Given the description of an element on the screen output the (x, y) to click on. 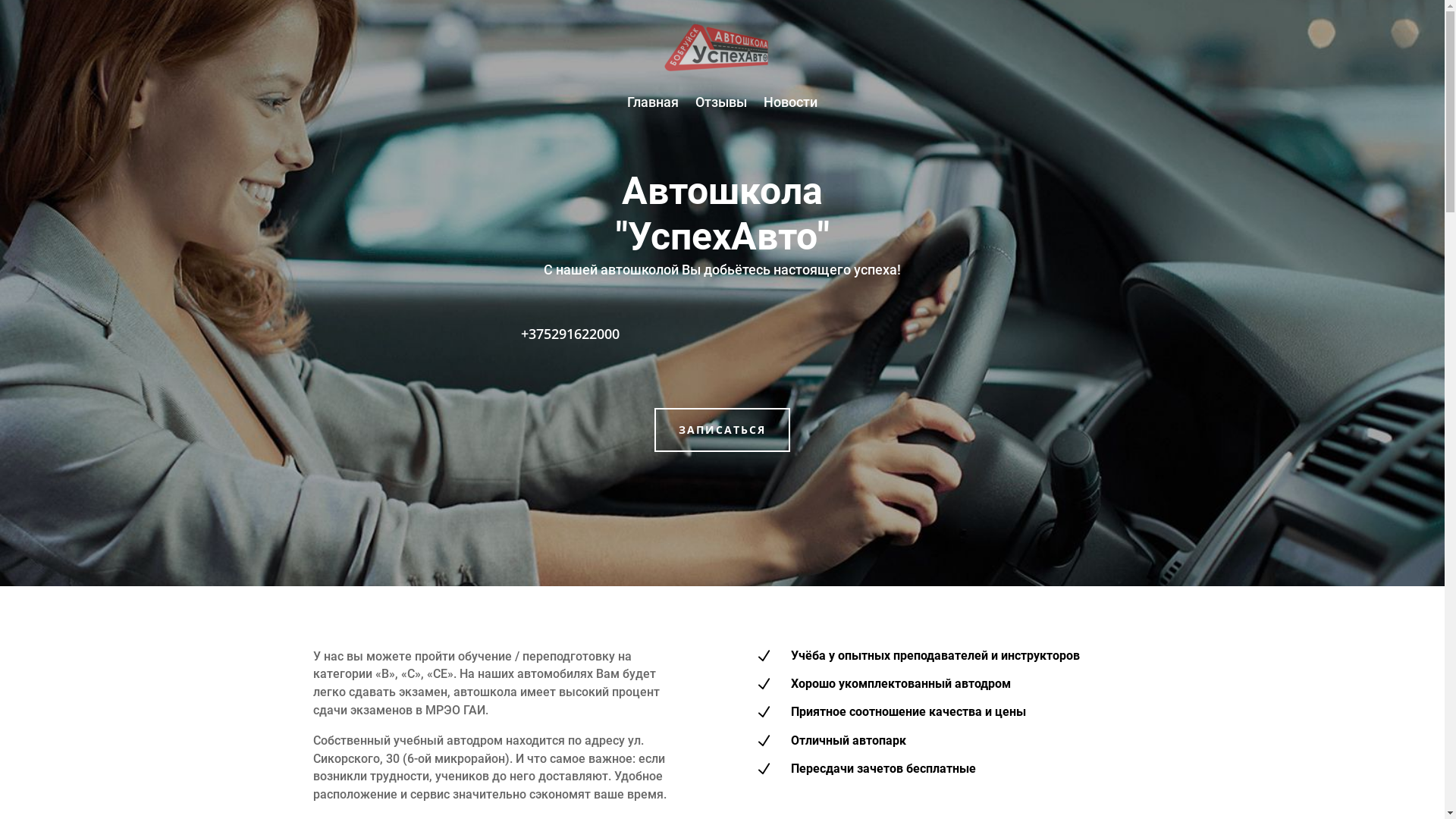
+375291622000 Element type: text (569, 333)
